Given the description of an element on the screen output the (x, y) to click on. 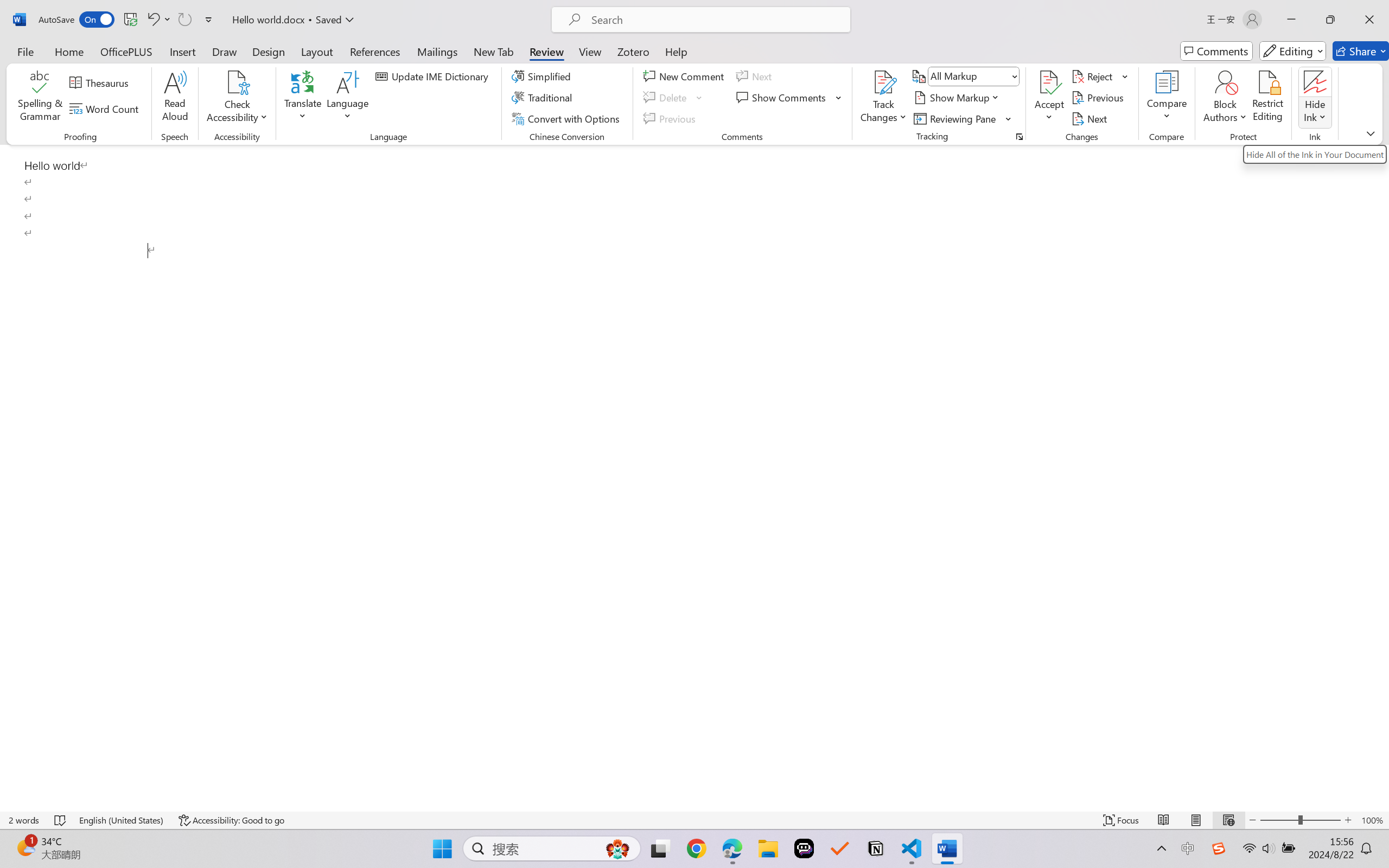
Spelling & Grammar (39, 97)
References (375, 51)
Open (1014, 76)
Update IME Dictionary... (433, 75)
Change Tracking Options... (1019, 136)
Mailings (437, 51)
Next (1090, 118)
Simplified (542, 75)
Web Layout (1228, 819)
Customize Quick Access Toolbar (208, 19)
AutomationID: BadgeAnchorLargeTicker (24, 847)
